Given the description of an element on the screen output the (x, y) to click on. 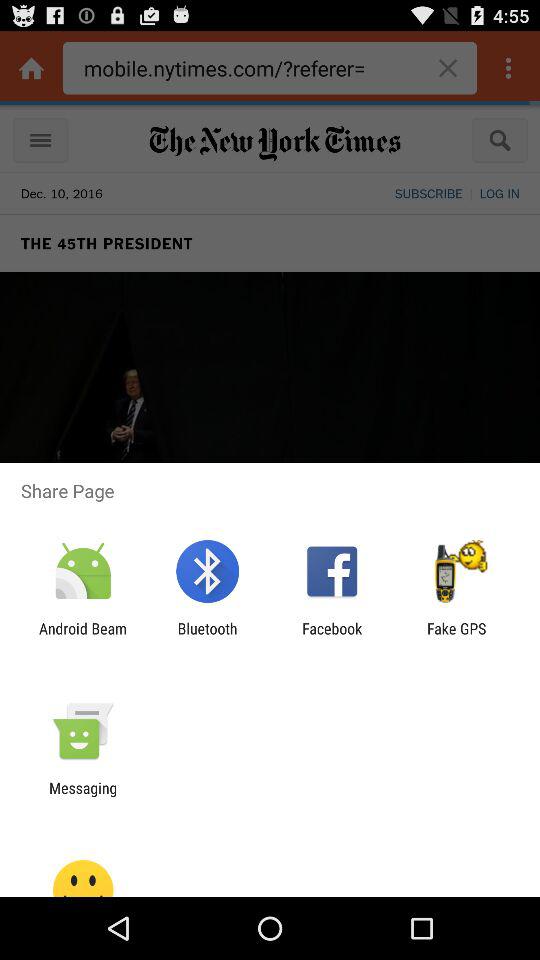
turn on the app to the right of facebook icon (456, 637)
